Given the description of an element on the screen output the (x, y) to click on. 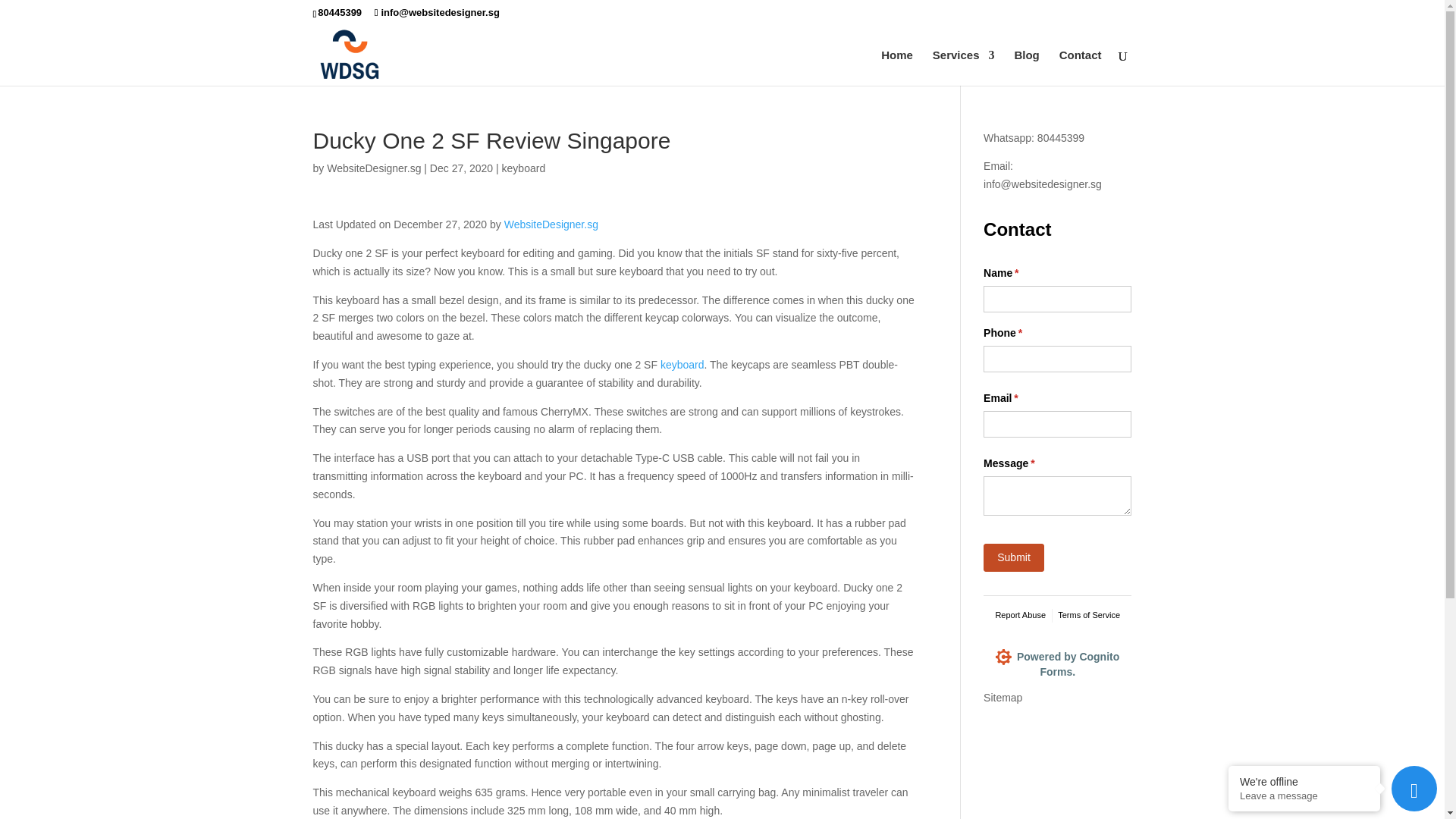
keyboard (524, 168)
Terms of Service (1088, 616)
Sitemap (1003, 697)
Whatsapp: 80445399 (1034, 137)
WebsiteDesigner.sg (373, 168)
Services (963, 67)
Contact (1080, 67)
We're offline (1304, 781)
Leave a message (1304, 795)
Report Abuse (1019, 616)
keyboard (682, 364)
Submit (1013, 556)
Posts by WebsiteDesigner.sg (373, 168)
Powered by Cognito Forms. (1057, 671)
Home (896, 67)
